Given the description of an element on the screen output the (x, y) to click on. 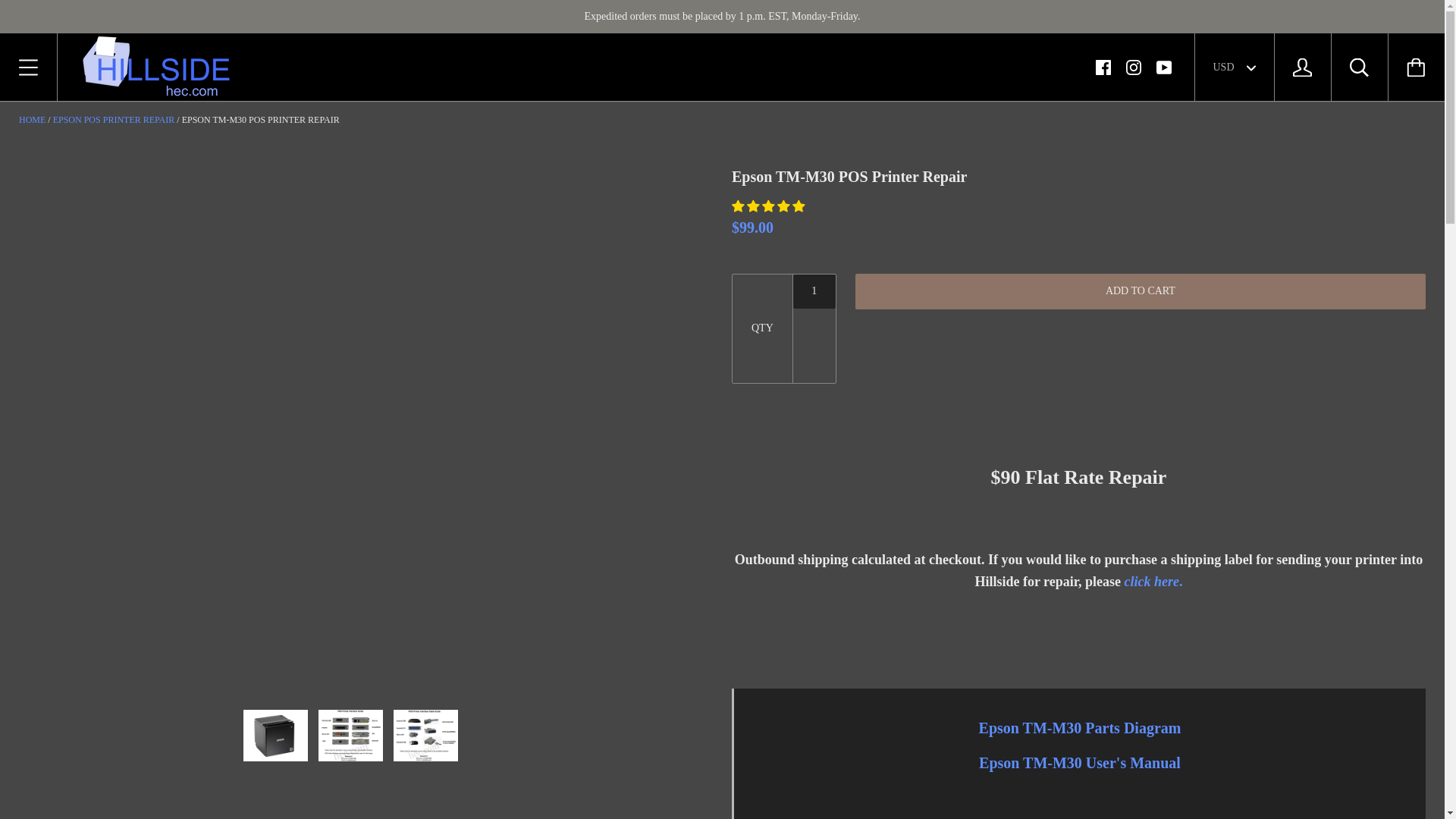
Incoming Shipping Label for Repair Orders (1153, 581)
Epson TM-M30 POS Printer User's Manual (1079, 762)
Epson TM-M30 POS Printer Parts Diagram (1079, 727)
1 (814, 291)
